Given the description of an element on the screen output the (x, y) to click on. 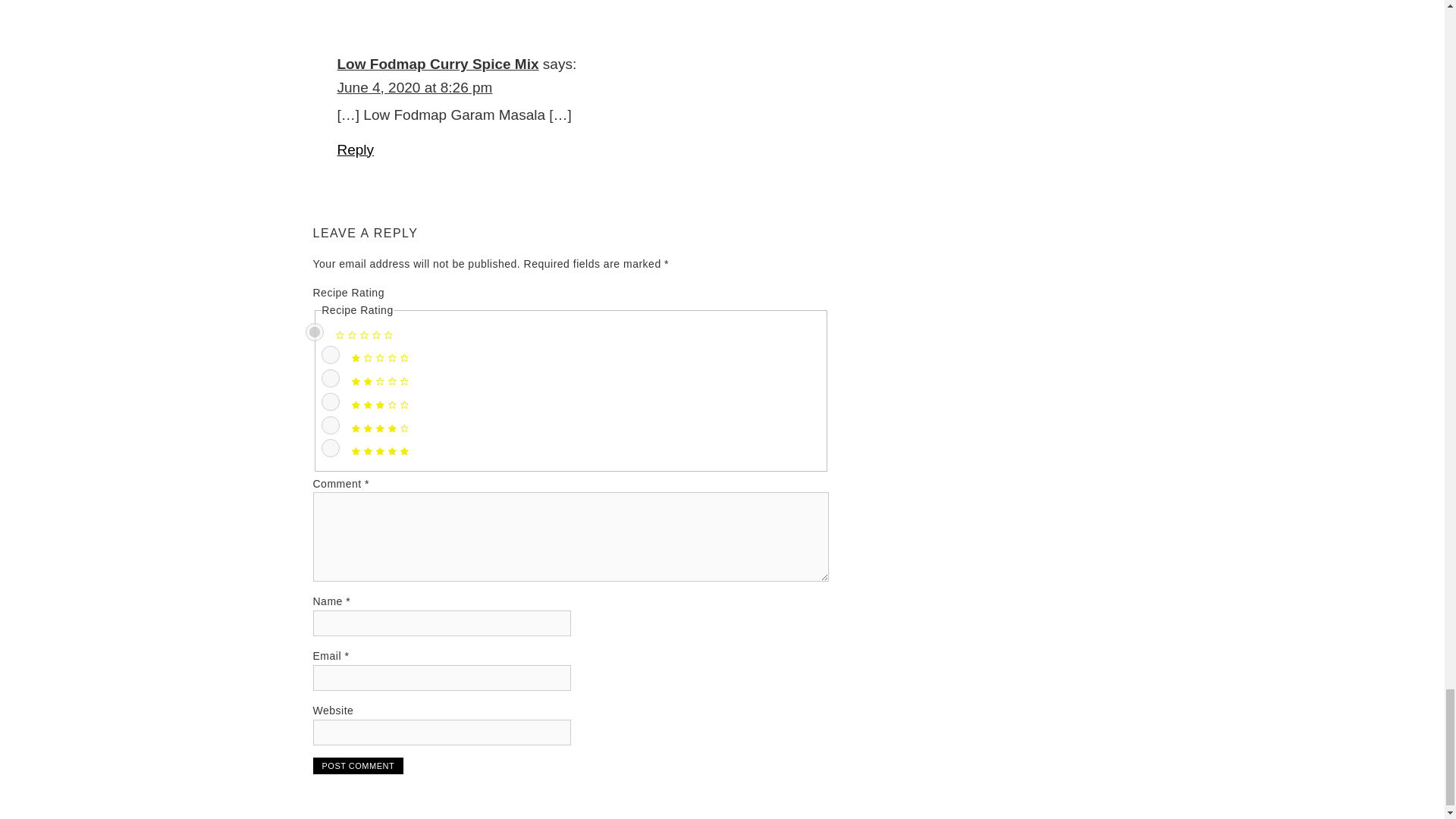
5 (330, 447)
0 (314, 331)
2 (330, 378)
Post Comment (358, 765)
4 (330, 425)
3 (330, 402)
1 (330, 354)
